Given the description of an element on the screen output the (x, y) to click on. 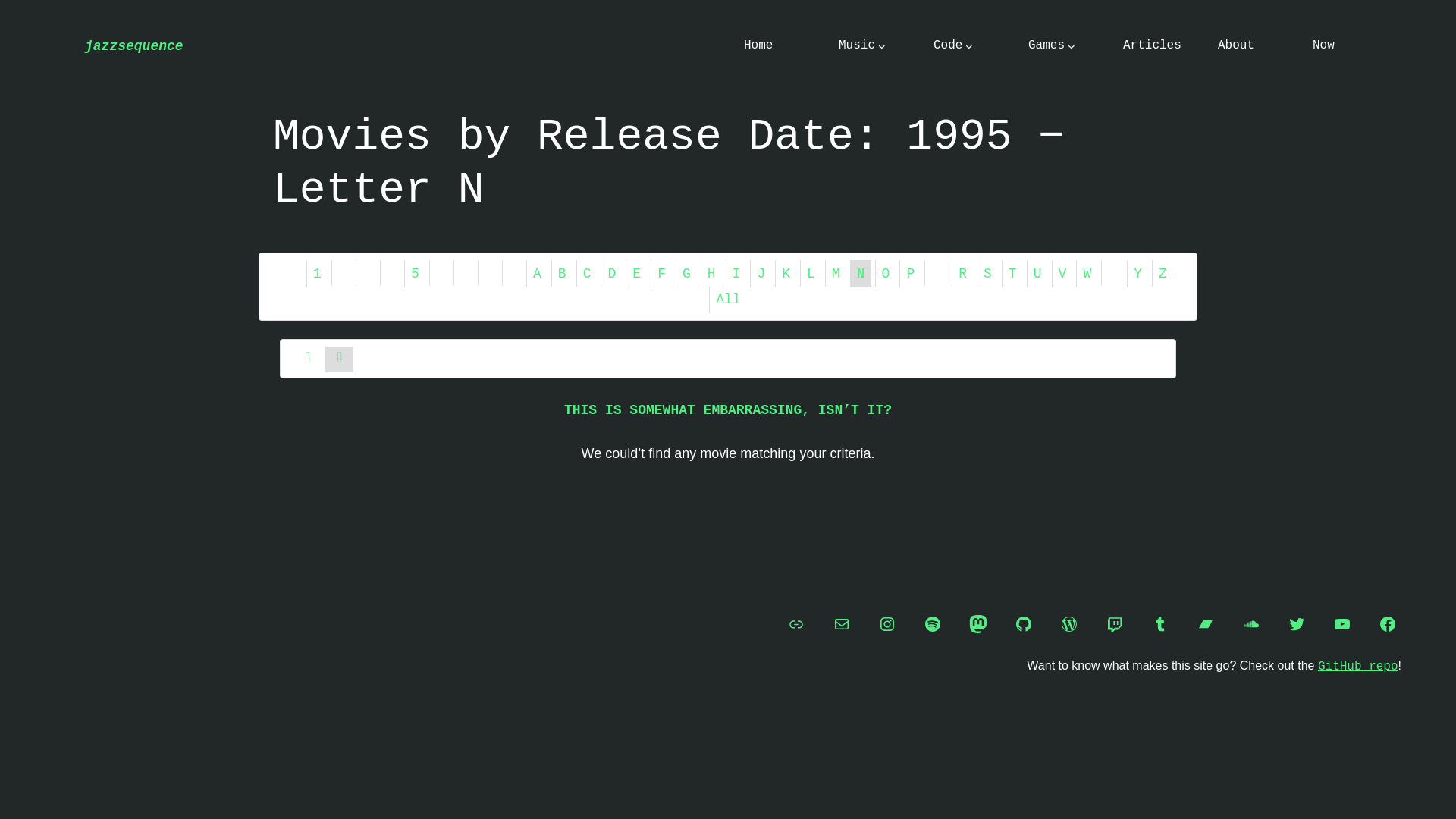
List ascendingly alphabetically (307, 359)
Articles (1151, 46)
E (635, 273)
D (611, 273)
jazzsequence (133, 46)
A (536, 273)
Now (1324, 46)
H (711, 273)
Music (856, 46)
F (661, 273)
Home (758, 46)
G (686, 273)
5 (414, 273)
I (736, 273)
About (1235, 46)
